Given the description of an element on the screen output the (x, y) to click on. 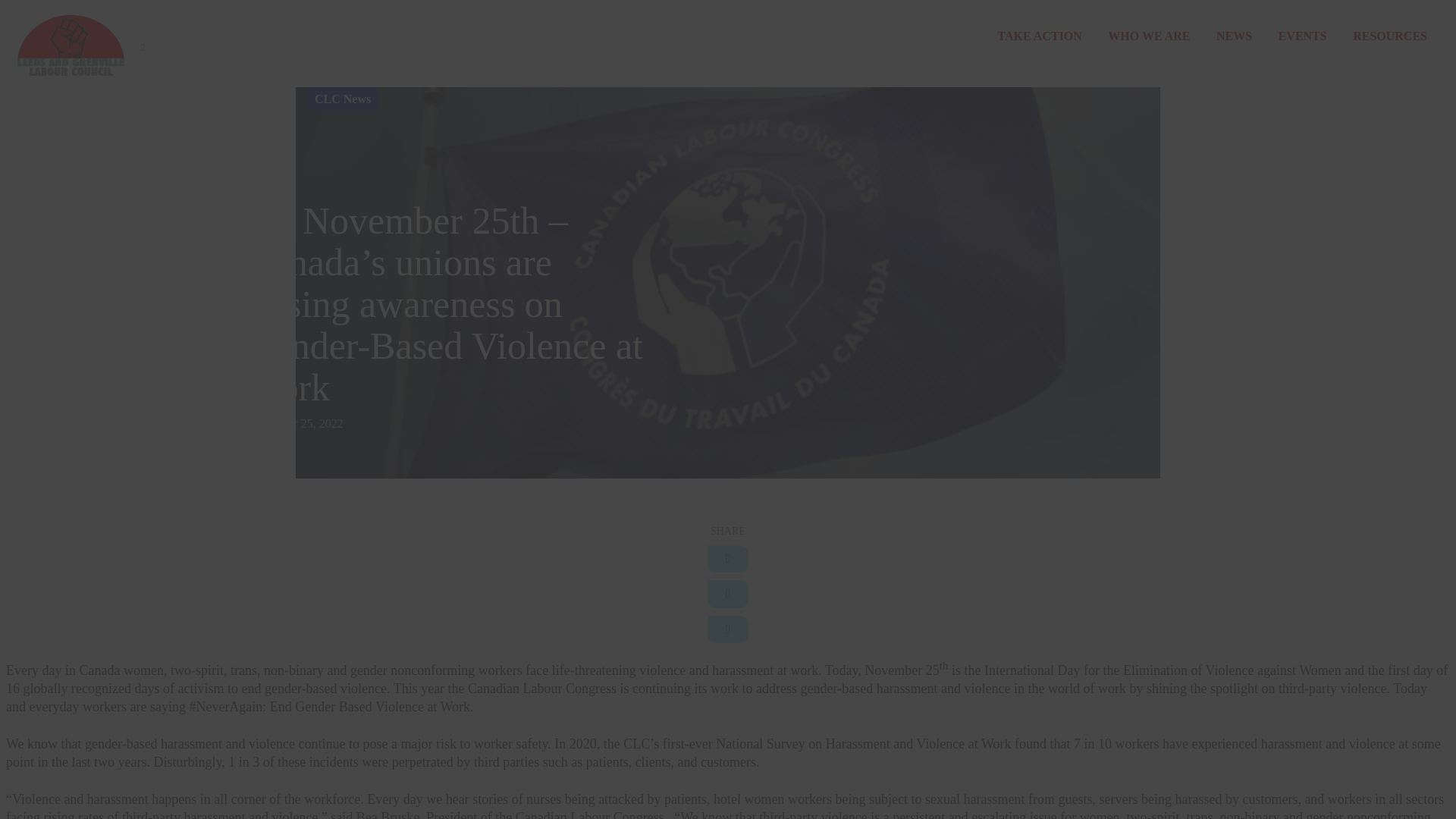
WHO WE ARE (1148, 36)
RESOURCES (1389, 36)
NEWS (1233, 36)
TAKE ACTION (1039, 36)
EVENTS (1302, 36)
